Given the description of an element on the screen output the (x, y) to click on. 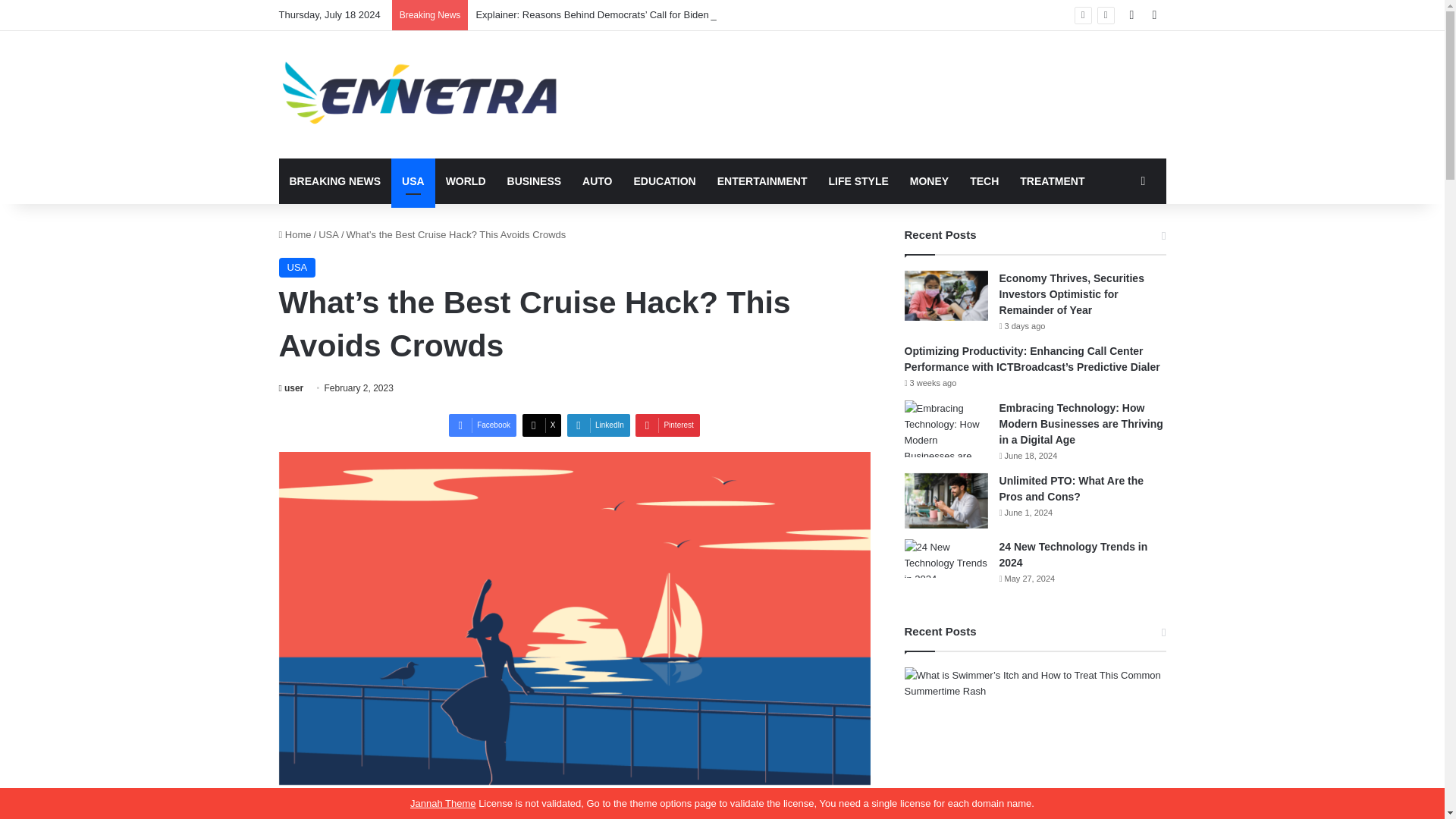
AUTO (597, 180)
user (291, 388)
Eminetra.com (419, 94)
Random Article (1142, 180)
TREATMENT (1051, 180)
WORLD (465, 180)
Sidebar (1154, 15)
Random Article (1131, 15)
USA (413, 180)
LIFE STYLE (857, 180)
Home (295, 234)
USA (297, 267)
MONEY (929, 180)
BUSINESS (534, 180)
LinkedIn (598, 425)
